Given the description of an element on the screen output the (x, y) to click on. 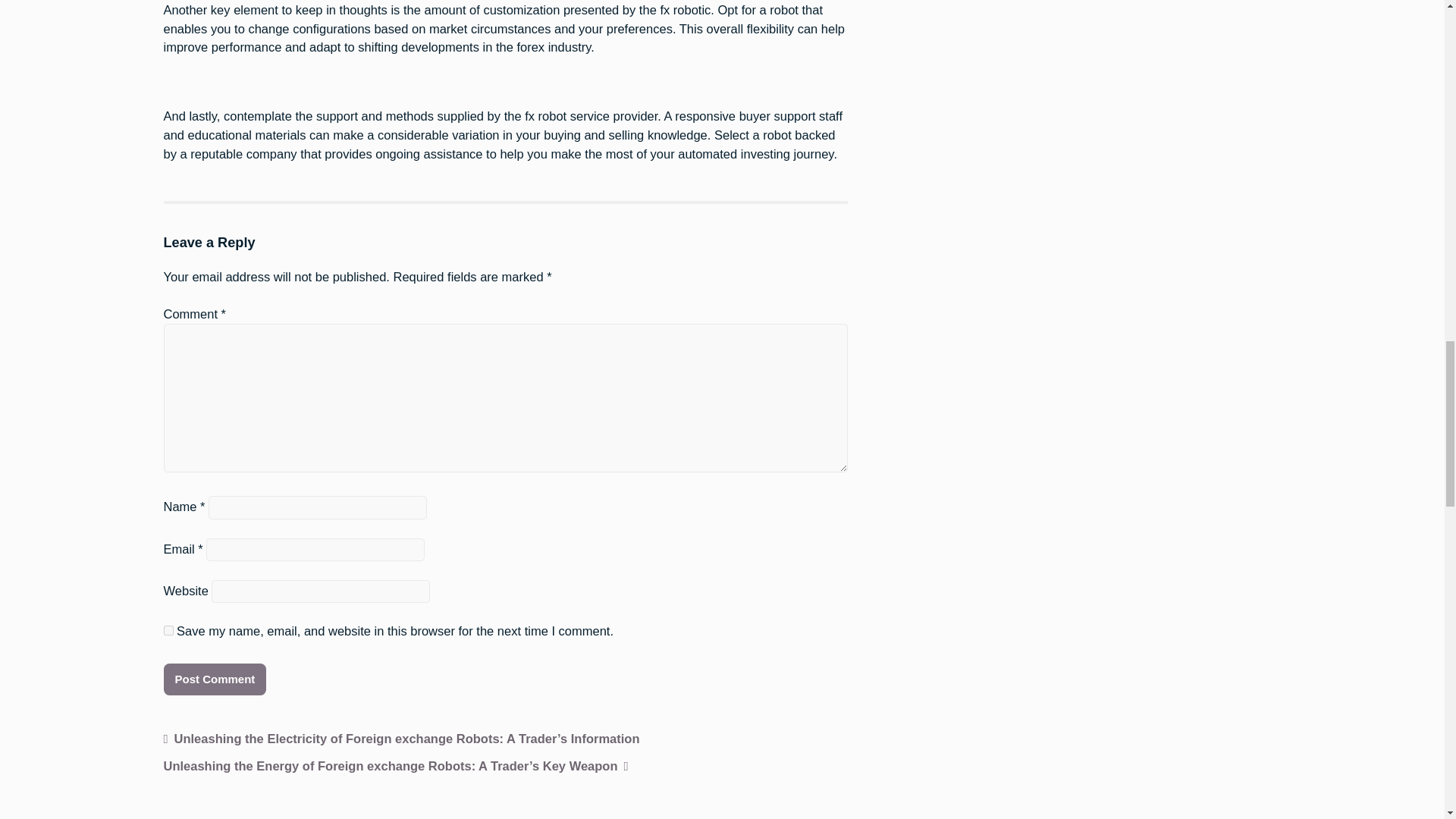
yes (168, 630)
Post Comment (214, 679)
Post Comment (214, 679)
